Given the description of an element on the screen output the (x, y) to click on. 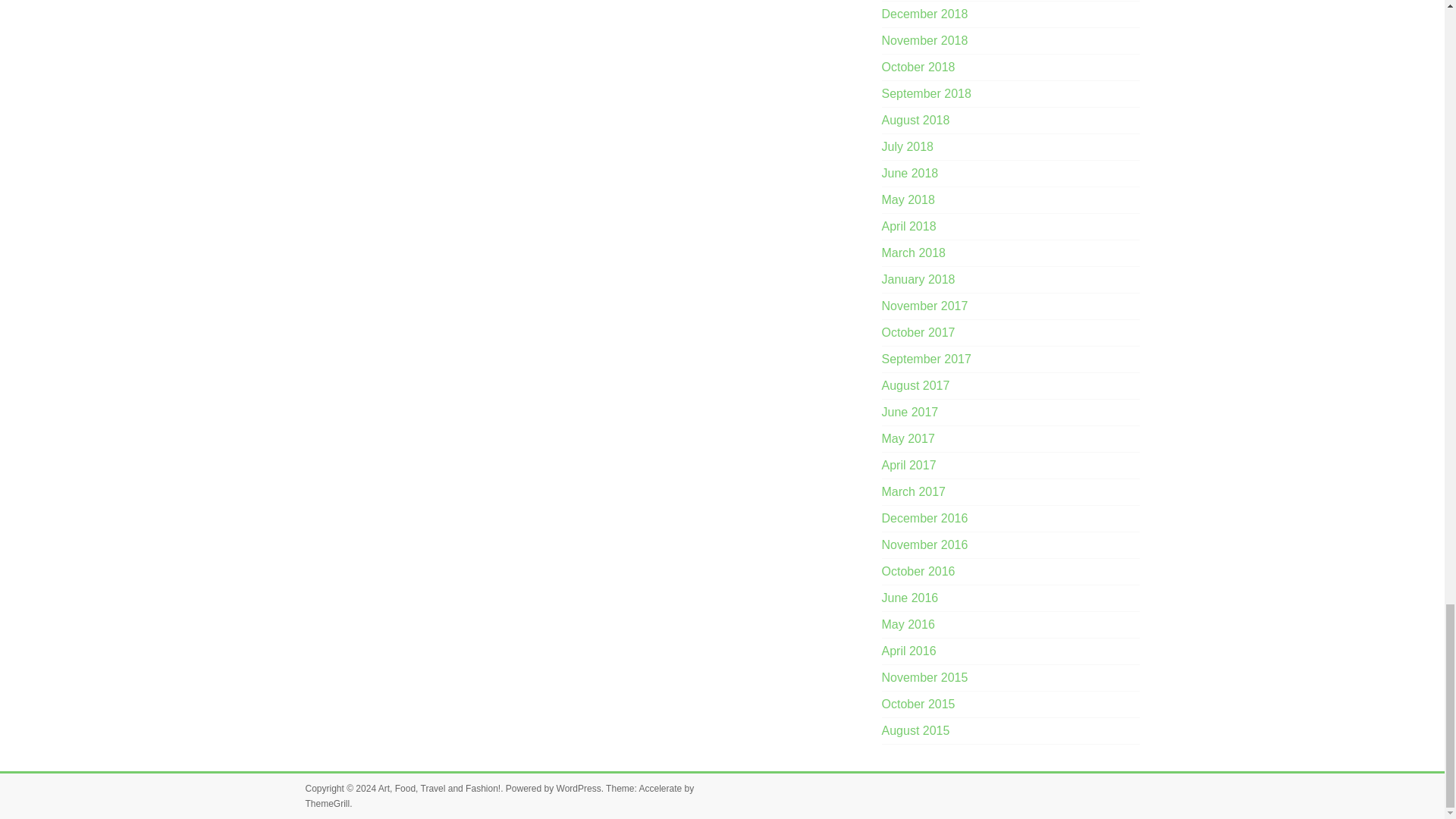
Art, Food, Travel and Fashion! (439, 787)
ThemeGrill (326, 803)
WordPress (578, 787)
